Given the description of an element on the screen output the (x, y) to click on. 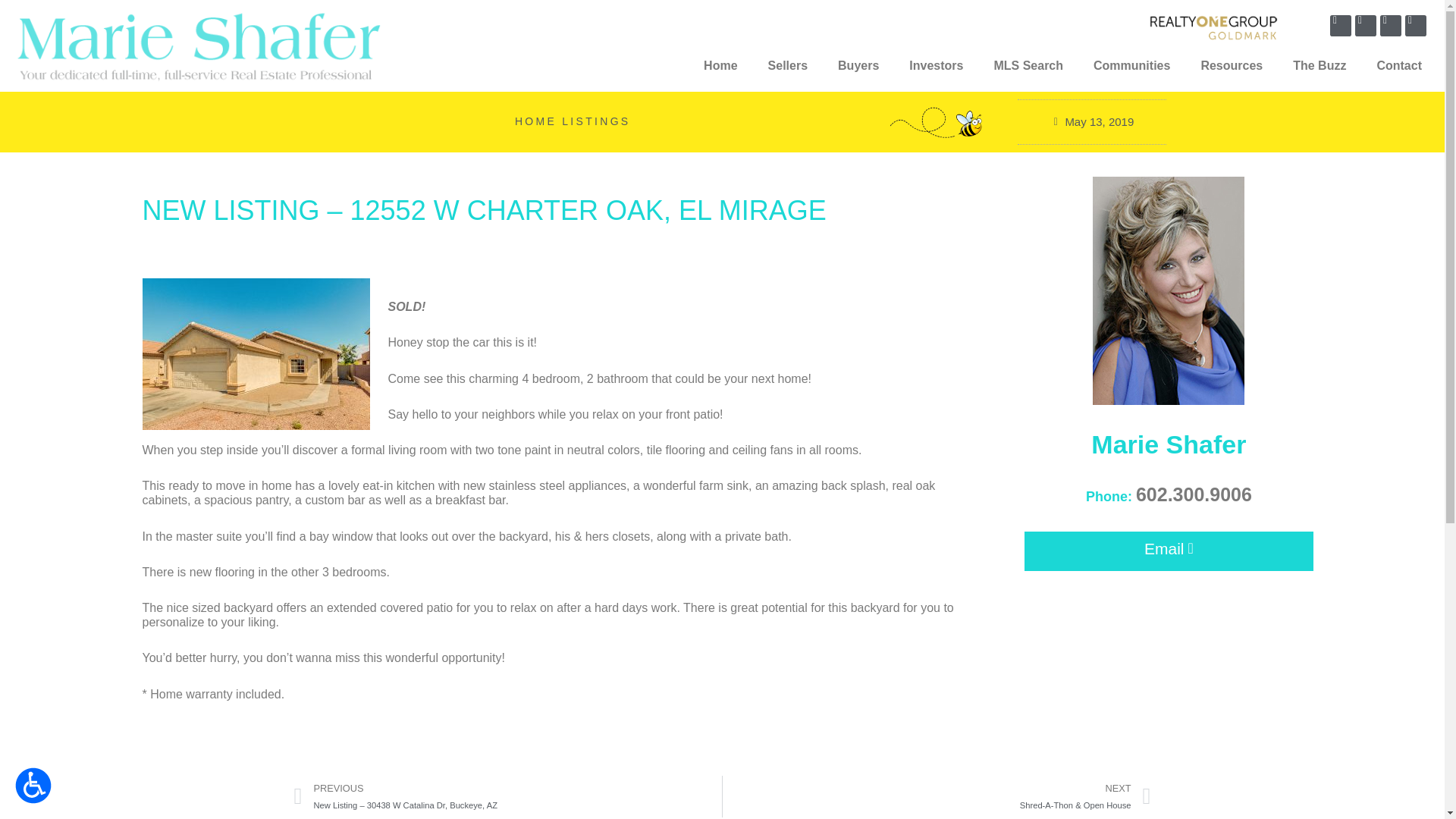
The Buzz (1319, 65)
Resources (1231, 65)
Open accessibility tools (32, 785)
Envelope (1415, 25)
Communities (1131, 65)
MLS Search (1028, 65)
Sellers (787, 65)
Twitter (1365, 25)
Buyers (857, 65)
Facebook (1340, 25)
